Given the description of an element on the screen output the (x, y) to click on. 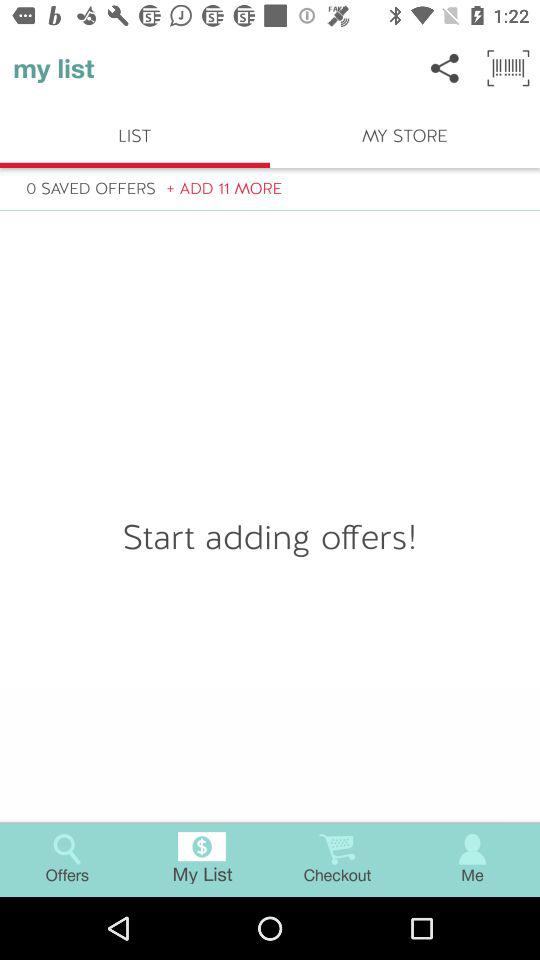
tap icon above my store (444, 67)
